Given the description of an element on the screen output the (x, y) to click on. 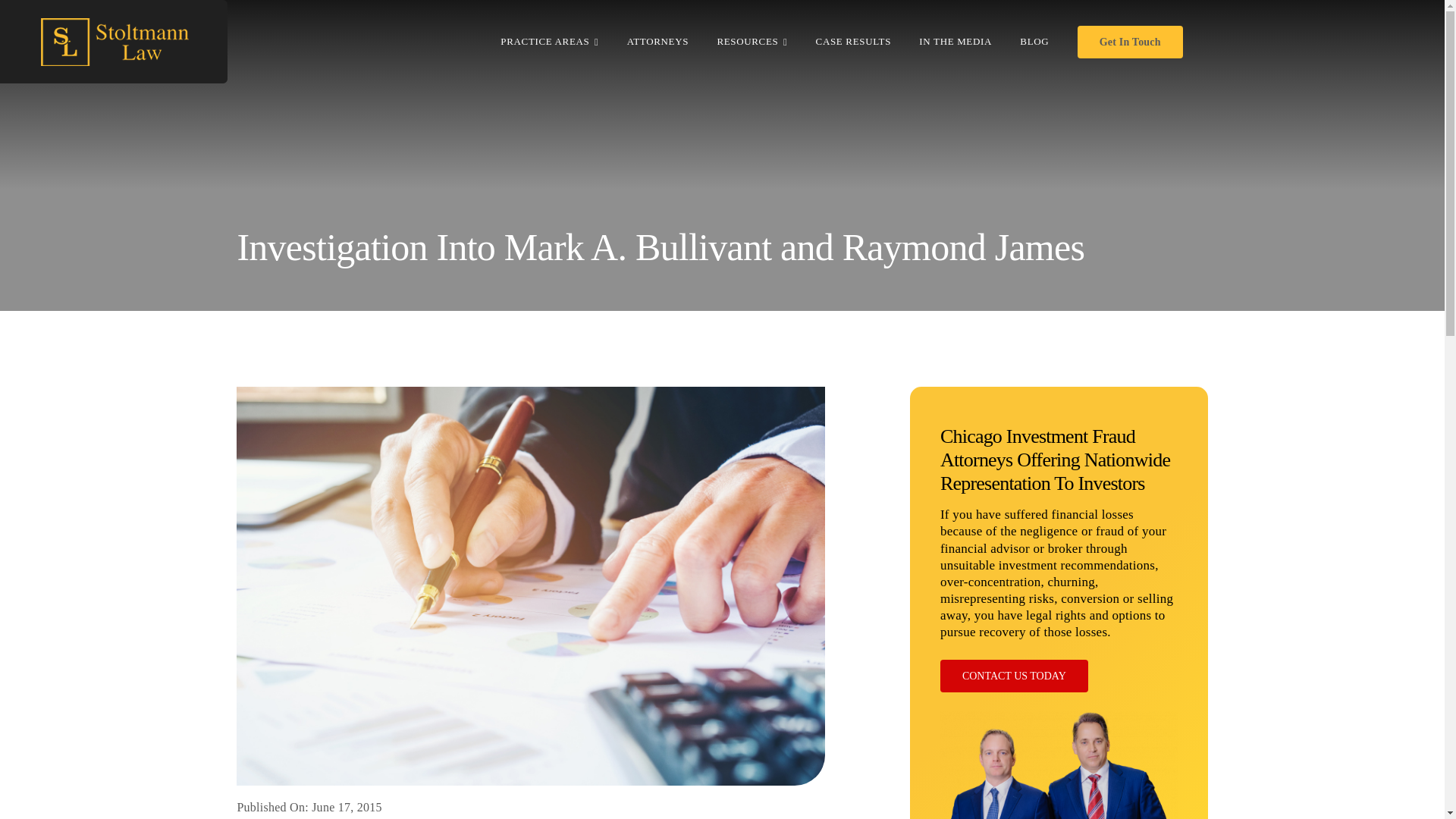
IN THE MEDIA (954, 41)
Stoltmann Law Securities Investment Fraud Attorneys (1058, 765)
PRACTICE AREAS (549, 41)
BLOG (1034, 41)
RESOURCES (751, 41)
ATTORNEYS (657, 41)
Get In Touch (1129, 41)
CASE RESULTS (853, 41)
